Given the description of an element on the screen output the (x, y) to click on. 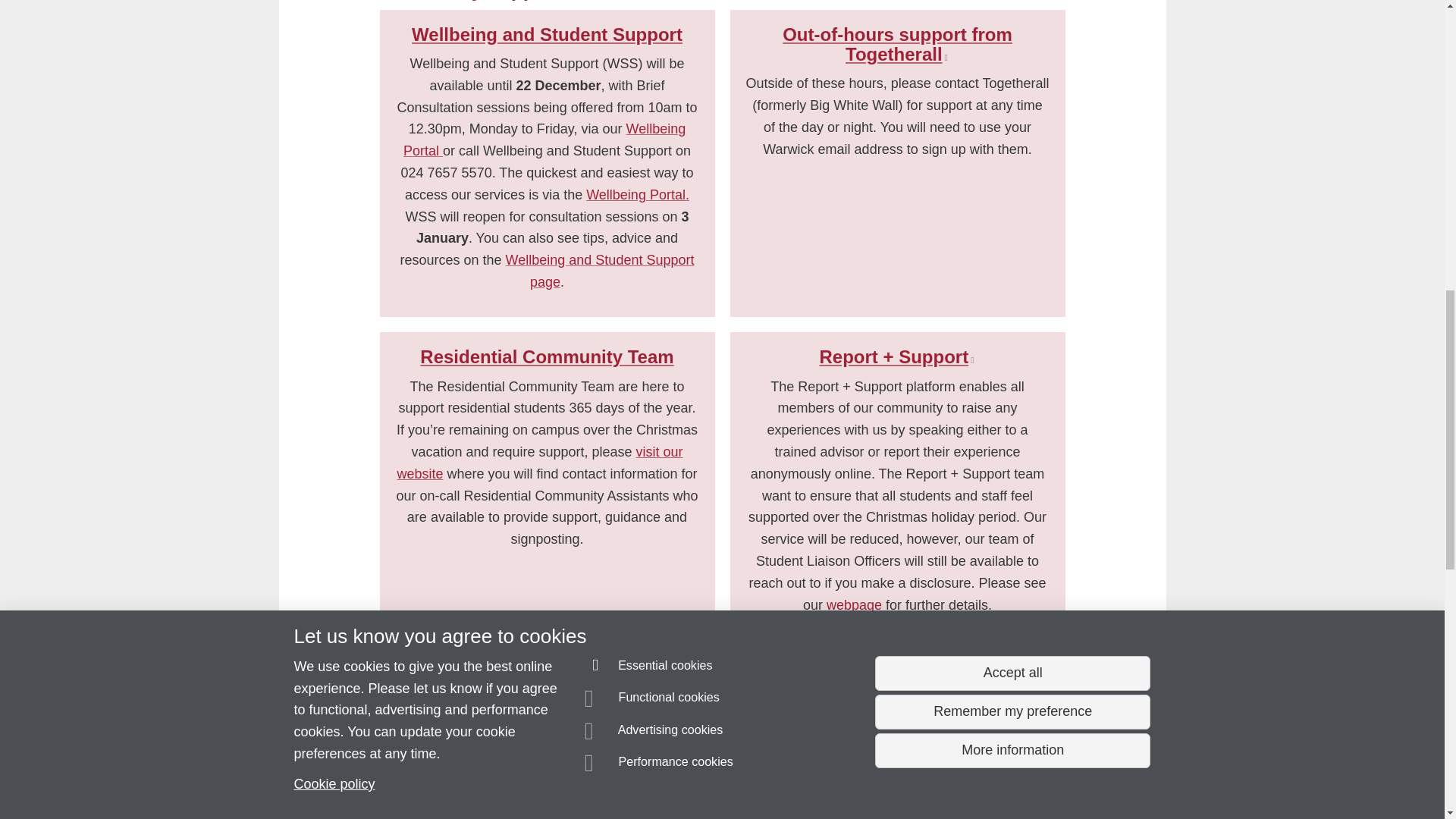
Wellbeing Portal (544, 139)
Wellbeing and Student Support page (599, 270)
Wellbeing Portal. (637, 194)
Residential Community Team (546, 356)
webpage (854, 604)
Wellbeing and Student Support (547, 34)
Employee Assistance Programme (553, 708)
visit our website (539, 462)
